Given the description of an element on the screen output the (x, y) to click on. 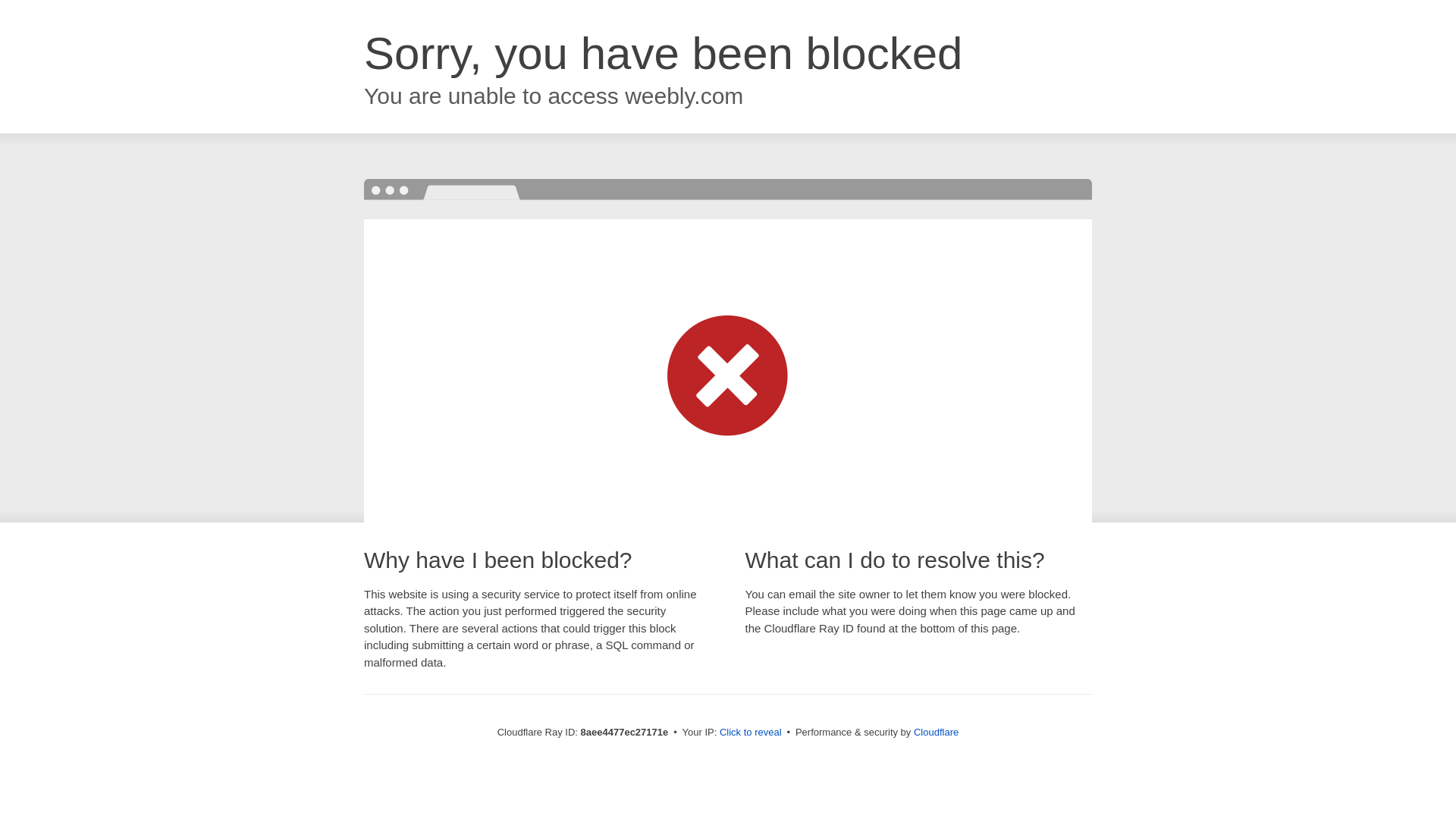
Click to reveal (750, 732)
Cloudflare (936, 731)
